Given the description of an element on the screen output the (x, y) to click on. 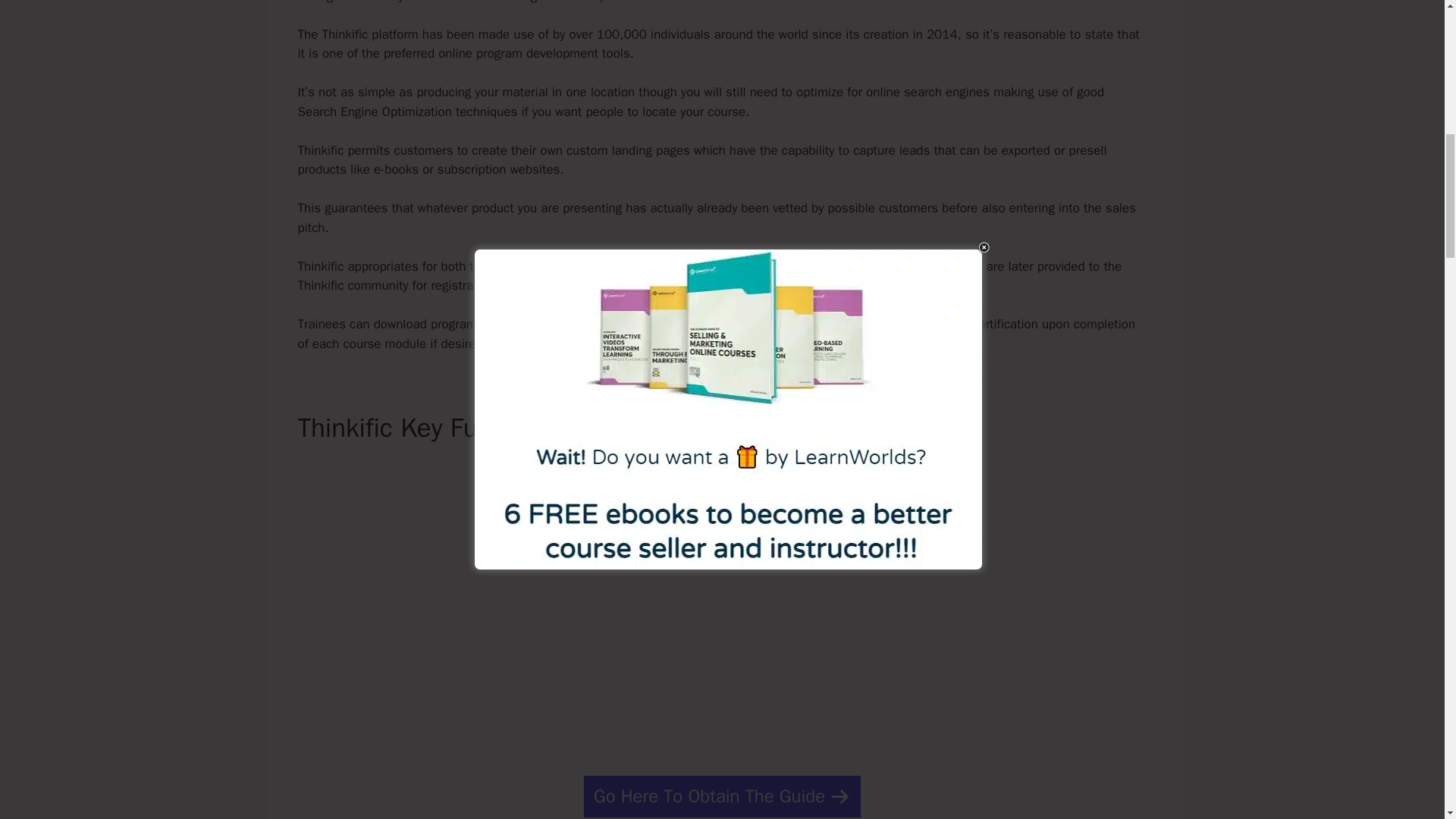
Scroll back to top (1406, 720)
Go Here To Obtain The Guide (721, 796)
